Given the description of an element on the screen output the (x, y) to click on. 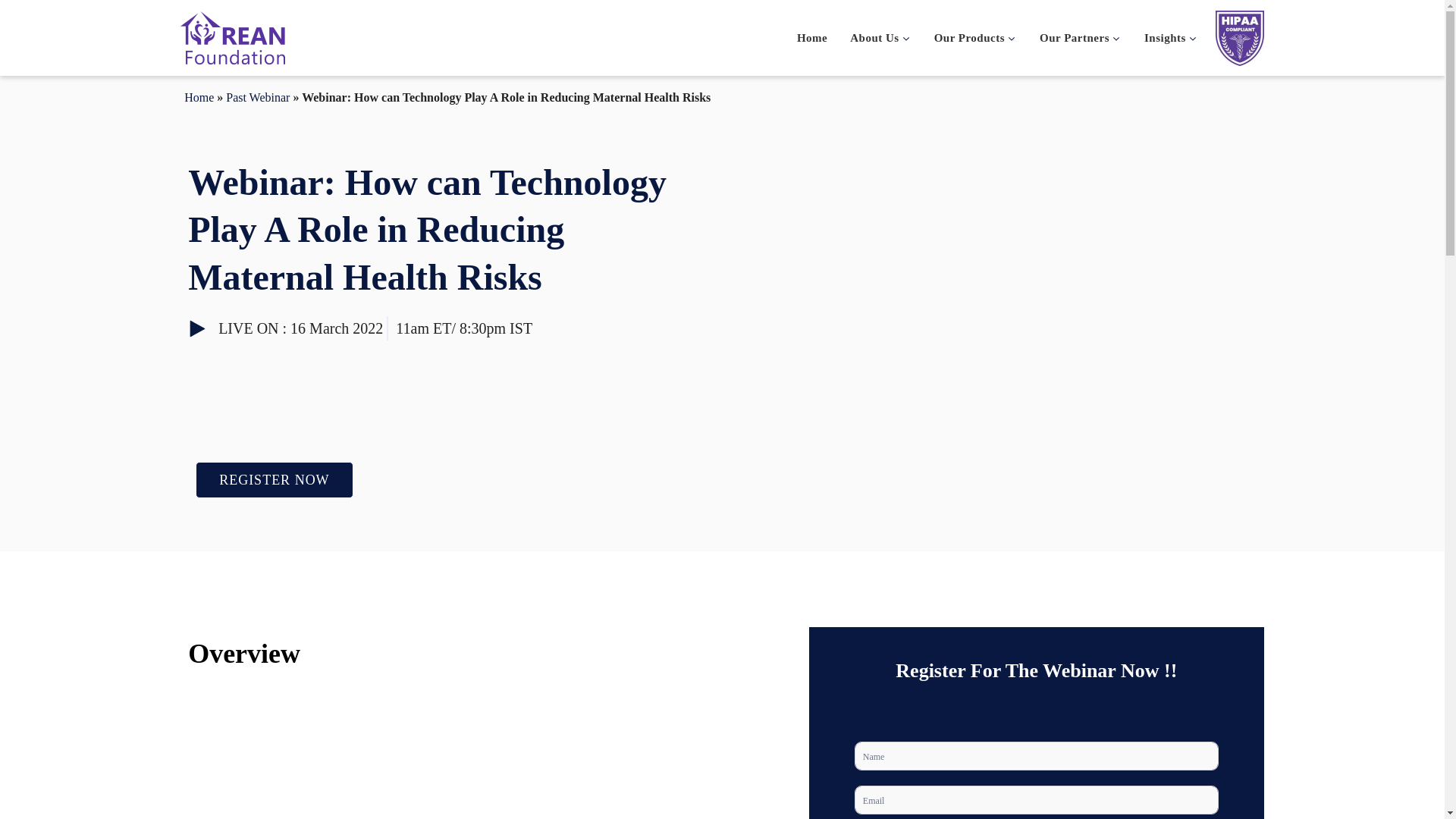
Our Products (975, 37)
Our Partners (1079, 37)
Home (812, 37)
About Us (879, 37)
